Given the description of an element on the screen output the (x, y) to click on. 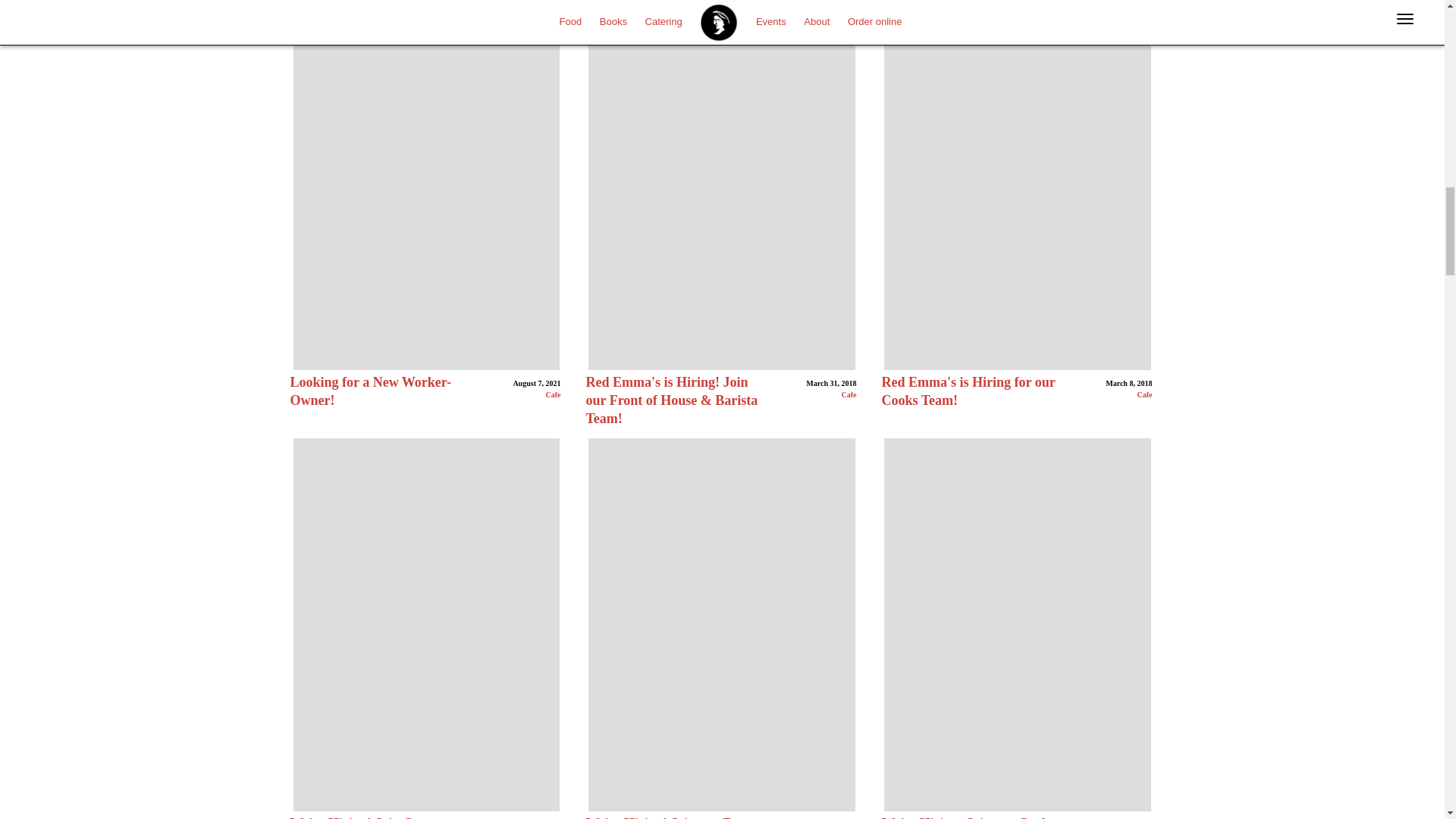
Cafe (848, 394)
Cafe (1144, 394)
Red Emma's is Hiring for our Cooks Team! (967, 390)
We're Hiring! Join Our Cooks Team! (357, 817)
Cafe (552, 394)
Looking for a New Worker-Owner! (370, 390)
